Given the description of an element on the screen output the (x, y) to click on. 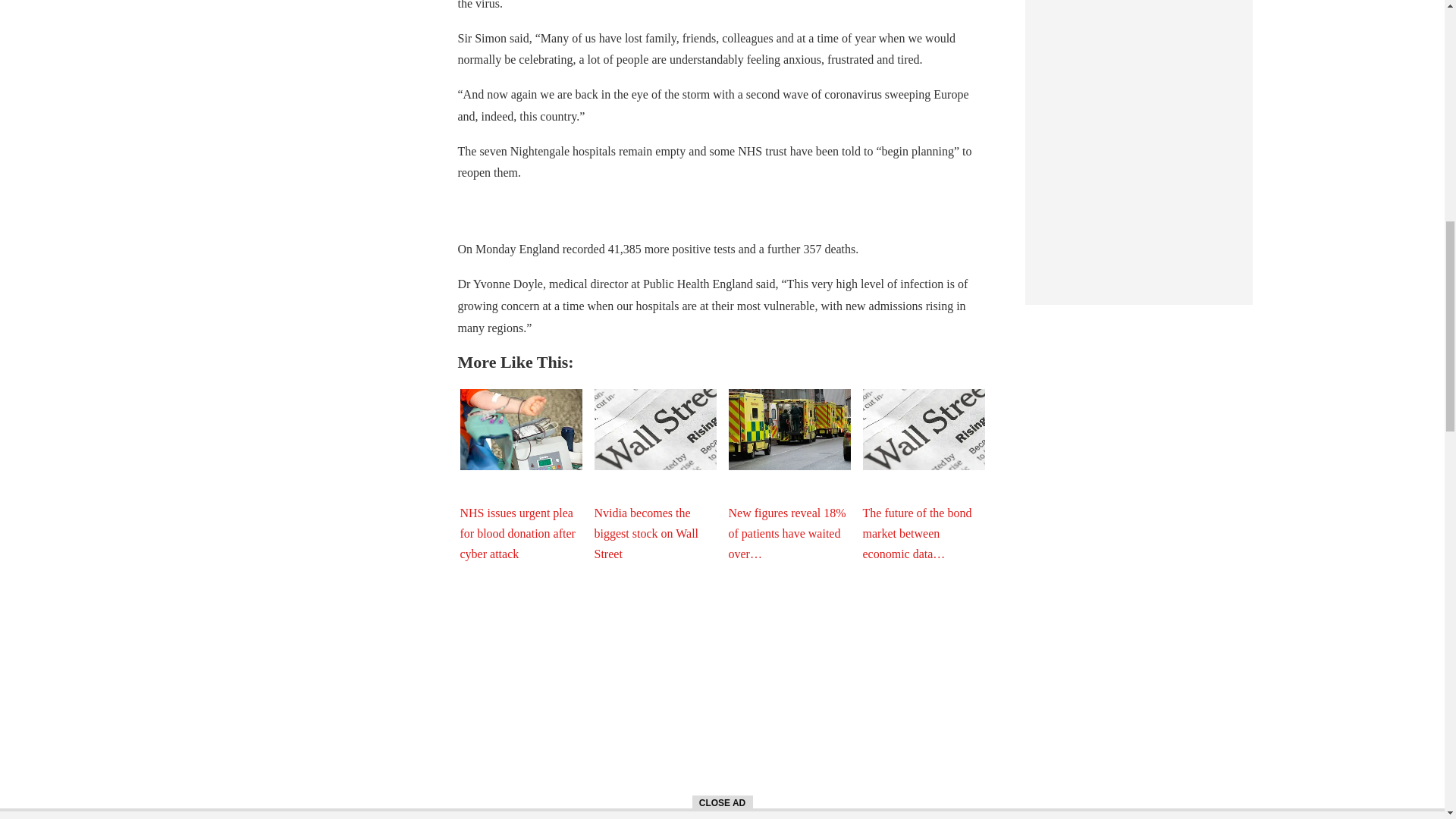
Nvidia becomes the biggest stock on Wall Street (655, 429)
NHS issues urgent plea for blood donation after cyber attack (520, 429)
